Given the description of an element on the screen output the (x, y) to click on. 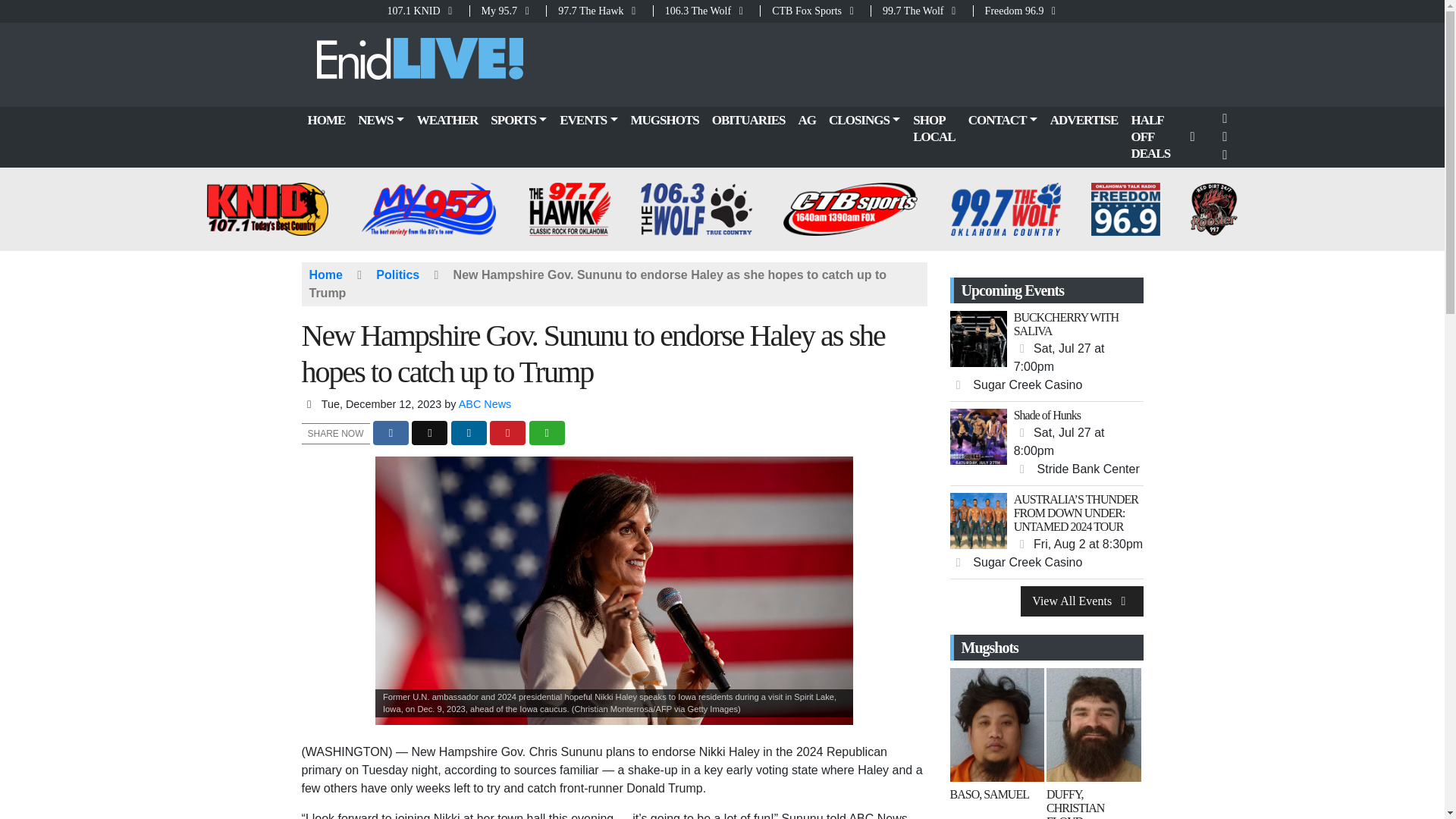
107.1 KNID (427, 10)
Share to Facebook (390, 432)
Follow us on X (1225, 136)
My 95.7 (508, 10)
Follow us on Instagram (1225, 154)
Follow us on Facebook (1225, 118)
Posts by ABC News (485, 404)
